Given the description of an element on the screen output the (x, y) to click on. 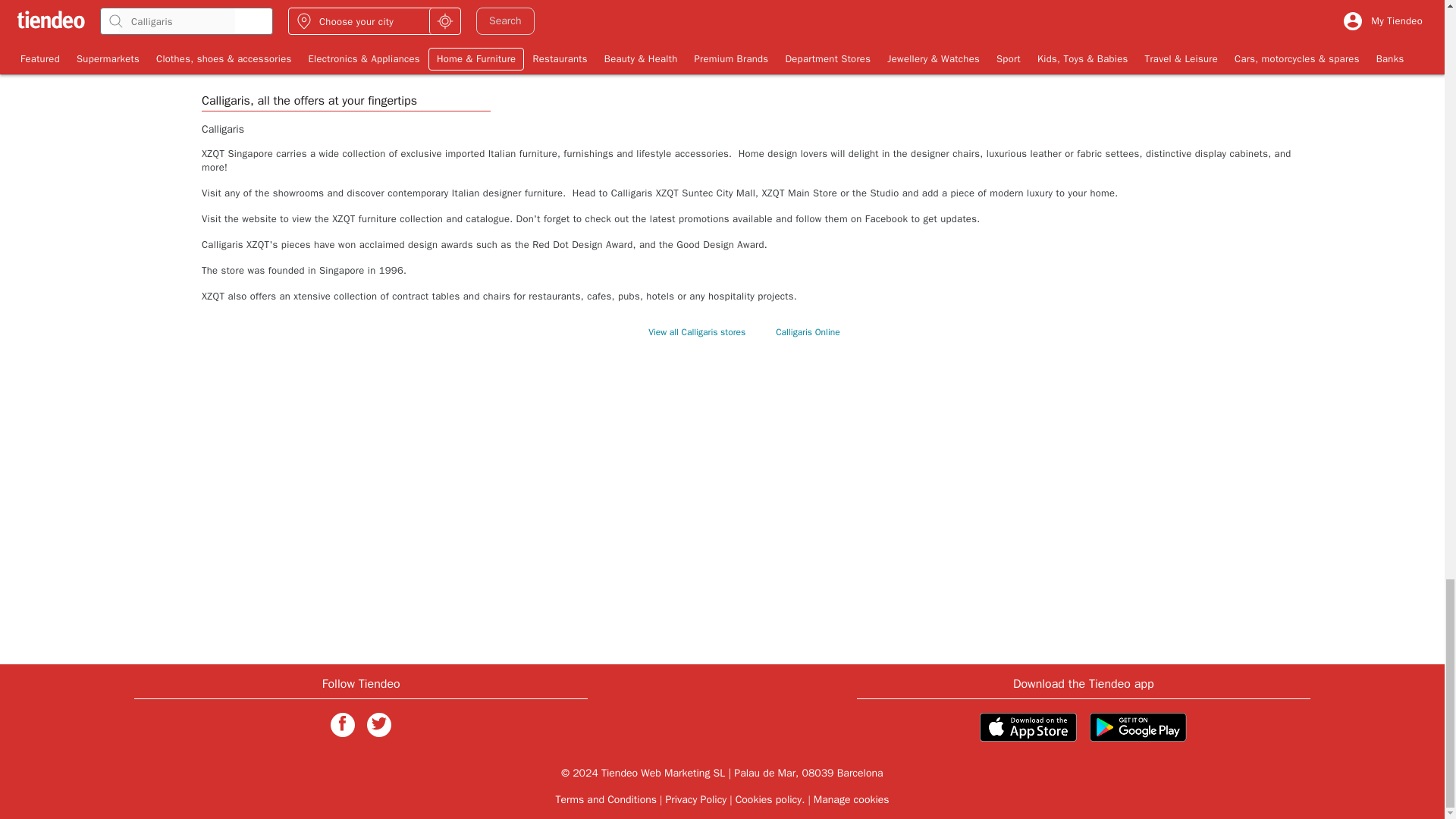
facebook (342, 724)
Android App (1138, 727)
Logo FabricPro (529, 21)
Logo Seawalk (1173, 21)
Logo Akemi Home (314, 21)
twitter (378, 724)
Logo Simmons (959, 21)
iOS App (1028, 727)
